Given the description of an element on the screen output the (x, y) to click on. 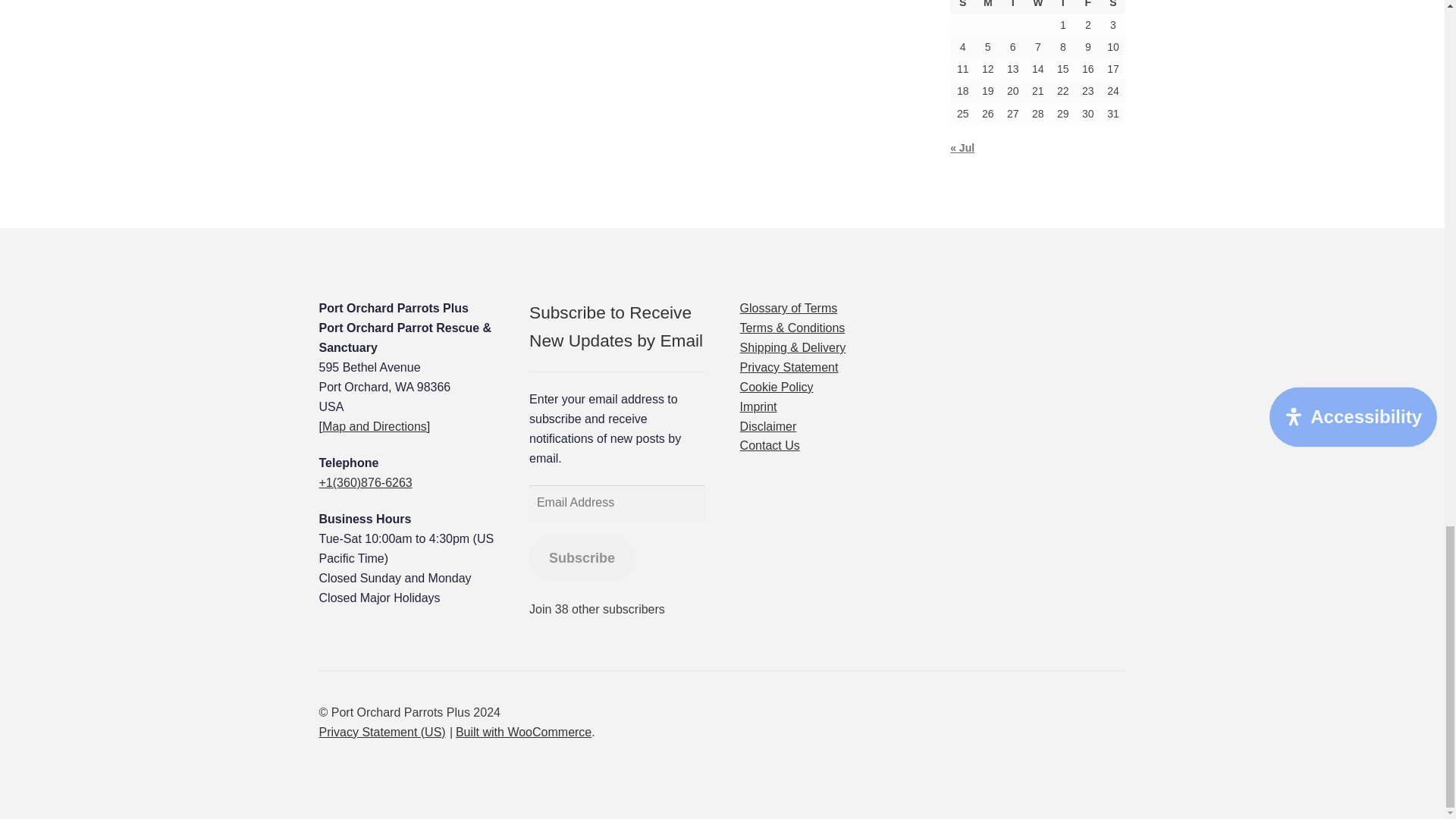
Saturday (1112, 6)
Monday (987, 6)
Thursday (1062, 6)
Tuesday (1012, 6)
Wednesday (1037, 6)
Friday (1087, 6)
WooCommerce - The Best eCommerce Platform for WordPress (523, 731)
Sunday (962, 6)
